Given the description of an element on the screen output the (x, y) to click on. 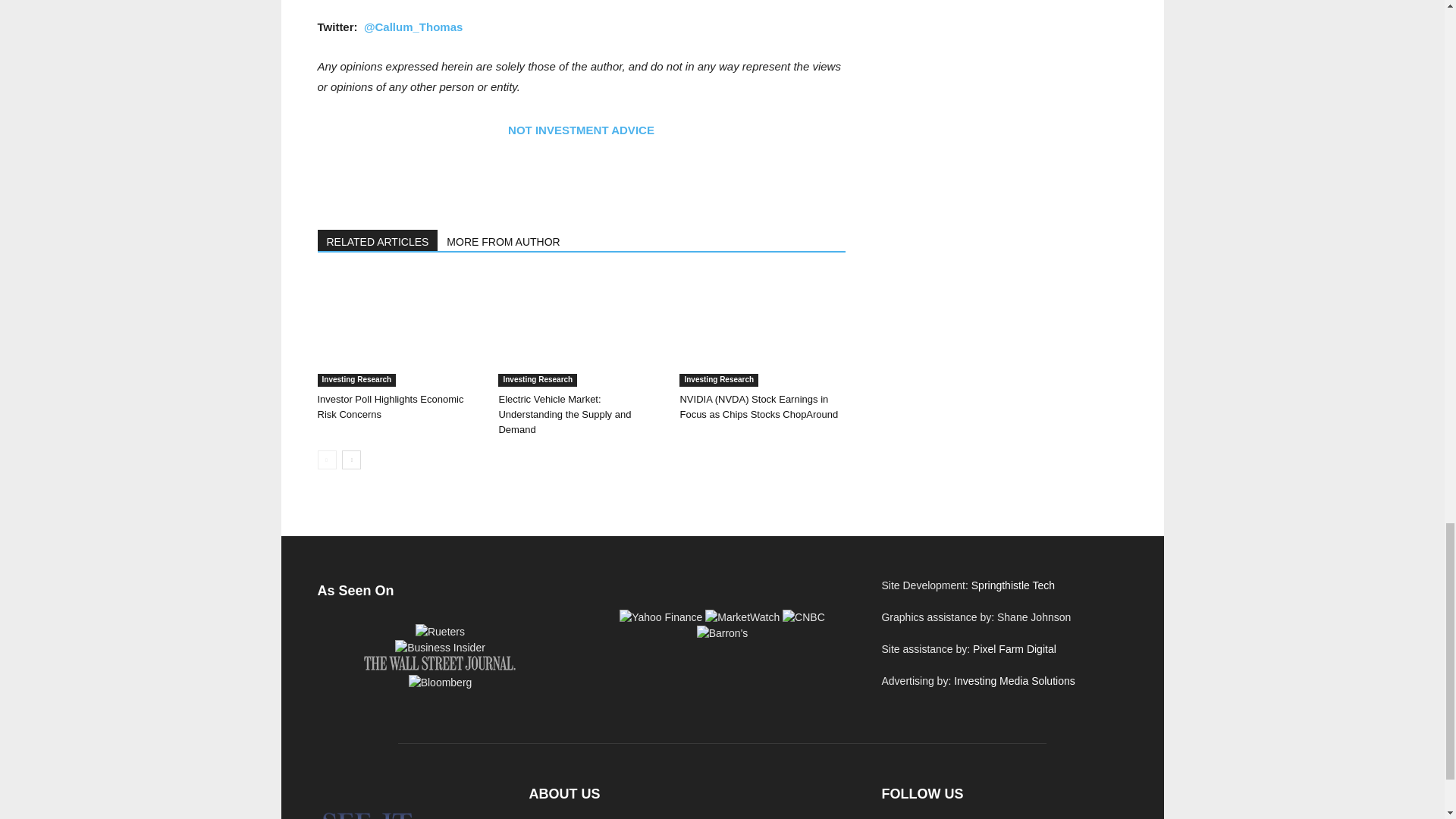
Investor Poll Highlights Economic Risk Concerns (399, 329)
Investor Poll Highlights Economic Risk Concerns (390, 406)
Electric Vehicle Market: Understanding the Supply and Demand (563, 413)
Electric Vehicle Market: Understanding the Supply and Demand (580, 329)
